Given the description of an element on the screen output the (x, y) to click on. 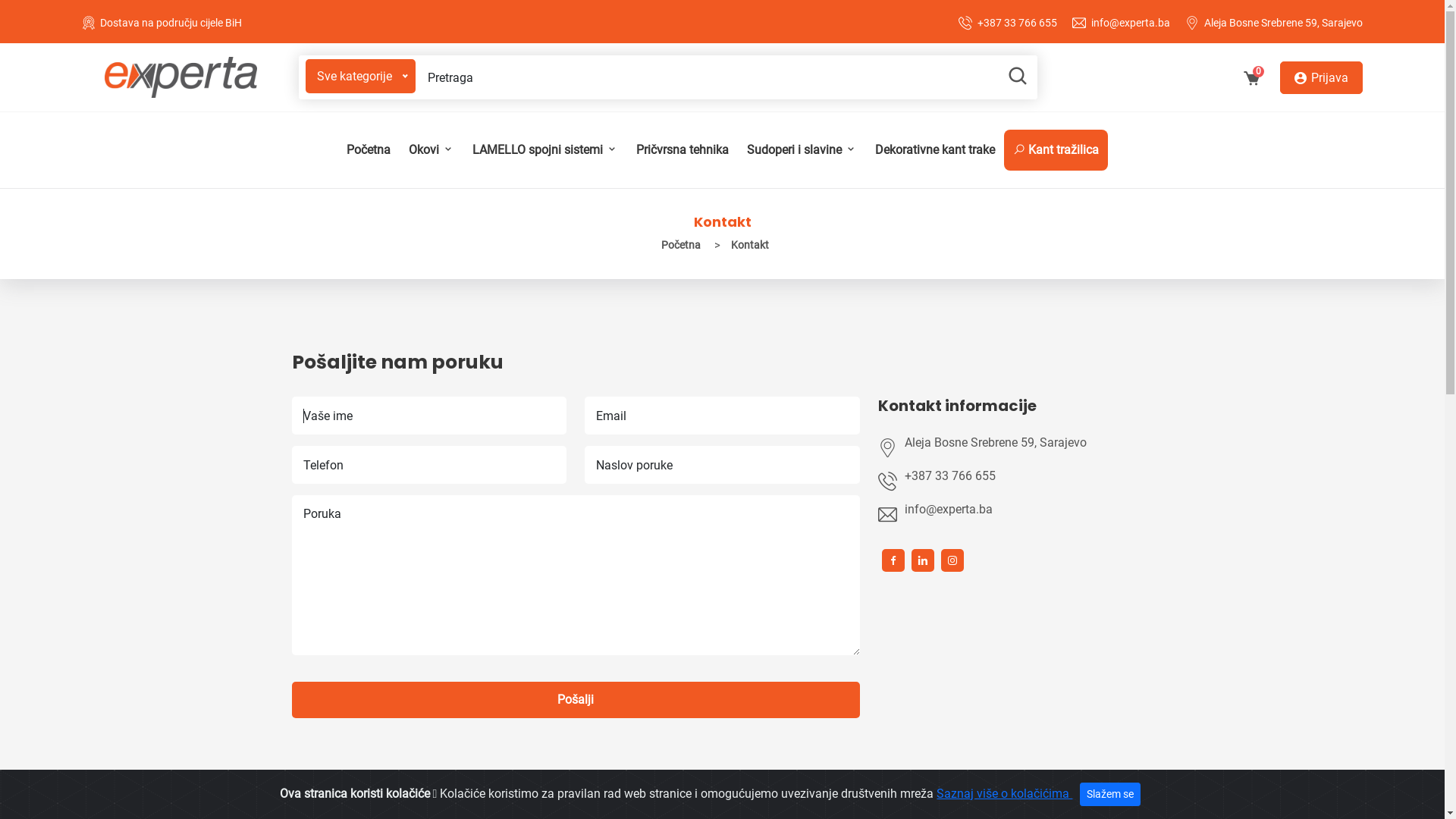
info@experta.ba Element type: text (1022, 509)
+387 33 766 655 Element type: text (1022, 476)
0 Element type: text (1251, 80)
+387 33 766 655 Element type: text (1017, 23)
Prijava Element type: text (1321, 76)
LAMELLO spojni sistemi Element type: text (544, 150)
Kontakt Element type: text (749, 245)
Sudoperi i slavine Element type: text (801, 150)
Aleja Bosne Srebrene 59, Sarajevo Element type: text (1283, 23)
Aleja Bosne Srebrene 59, Sarajevo Element type: text (1028, 442)
Dekorativne kant trake Element type: text (934, 150)
Okovi Element type: text (430, 150)
info@experta.ba Element type: text (1130, 23)
